Given the description of an element on the screen output the (x, y) to click on. 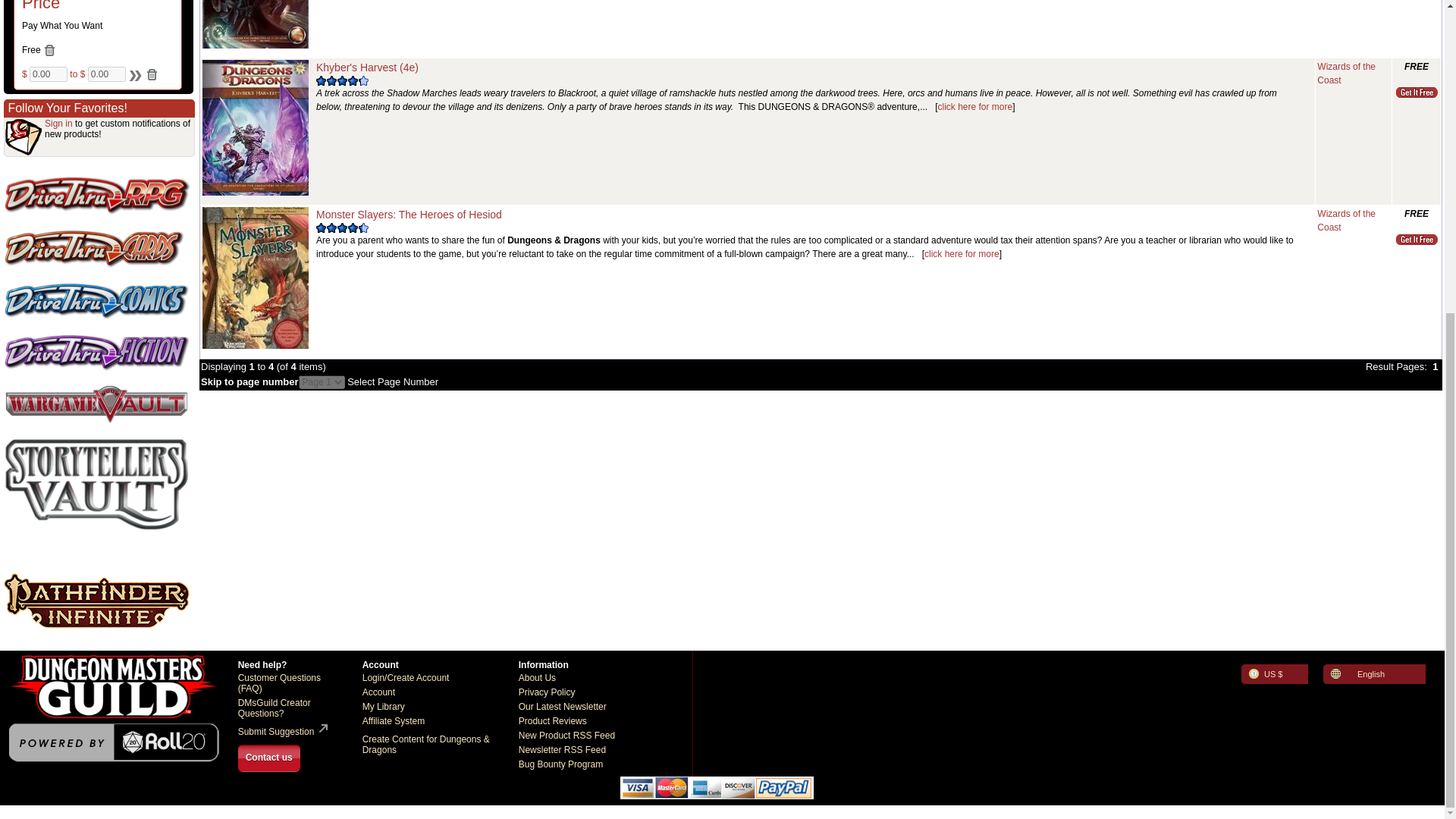
Remove Filter (49, 50)
Remove Filter (151, 74)
0.00 (106, 73)
0.00 (47, 73)
 Search  (133, 74)
